Given the description of an element on the screen output the (x, y) to click on. 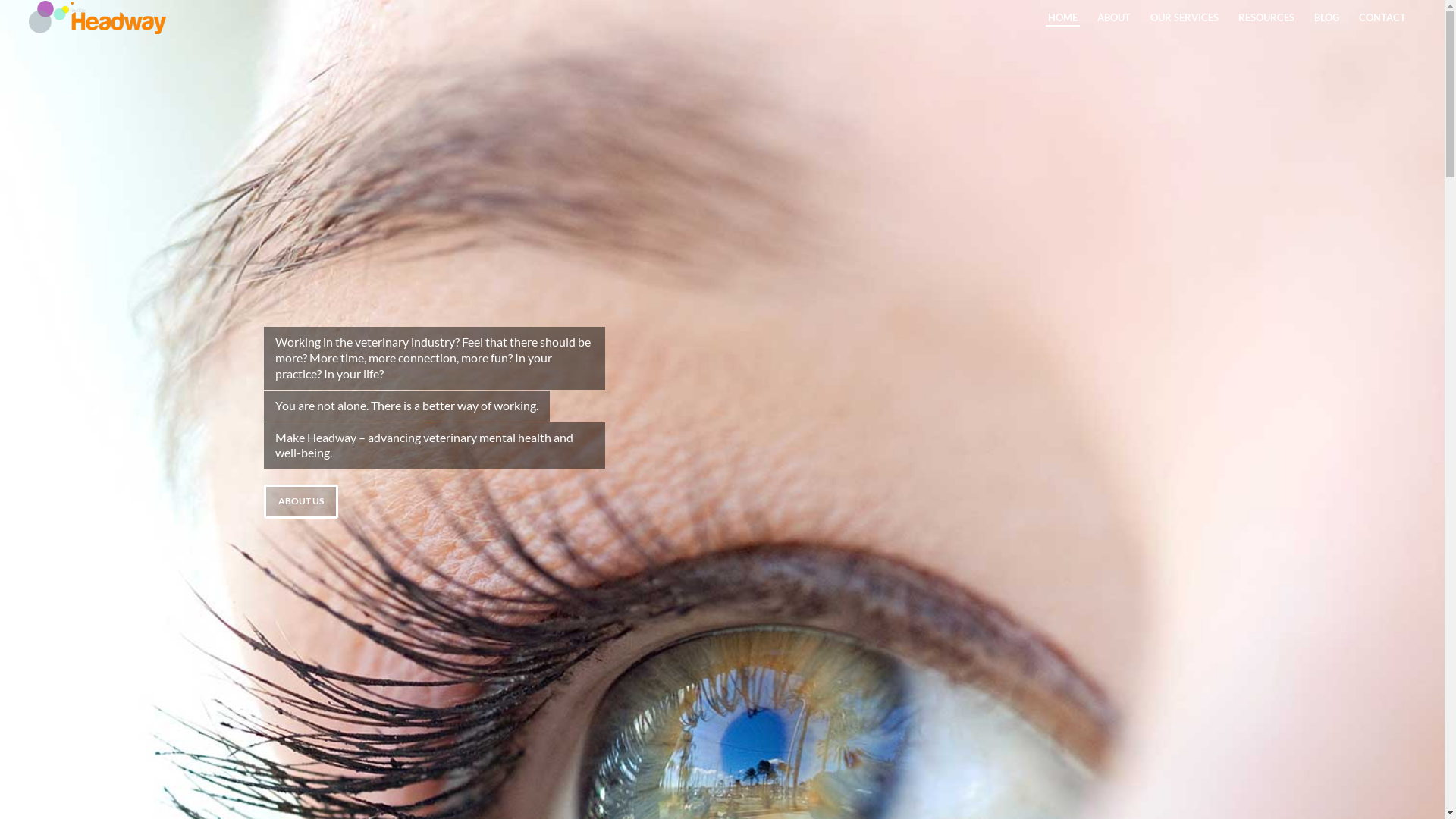
CONTACT Element type: text (1382, 17)
BLOG Element type: text (1326, 17)
OUR SERVICES Element type: text (1184, 17)
ABOUT US Element type: text (300, 500)
HOME Element type: text (1062, 17)
RESOURCES Element type: text (1266, 17)
ABOUT Element type: text (1113, 17)
